Given the description of an element on the screen output the (x, y) to click on. 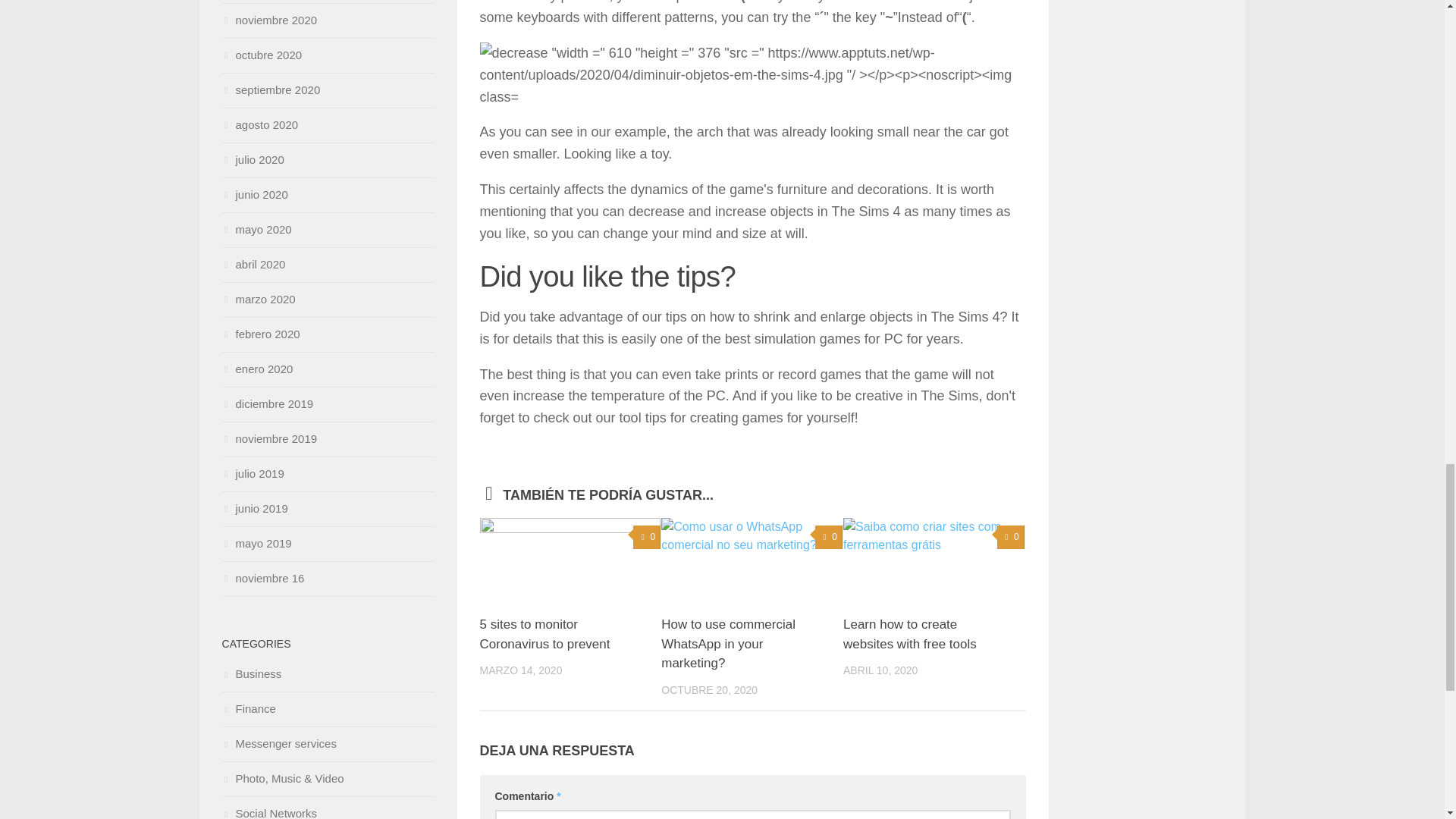
0 (1011, 536)
decrease objects in the sims 4 (752, 74)
Learn how to create websites with free tools (909, 634)
0 (829, 536)
0 (647, 536)
How to use commercial WhatsApp in your marketing? (727, 643)
5 sites to monitor Coronavirus to prevent (544, 634)
